Given the description of an element on the screen output the (x, y) to click on. 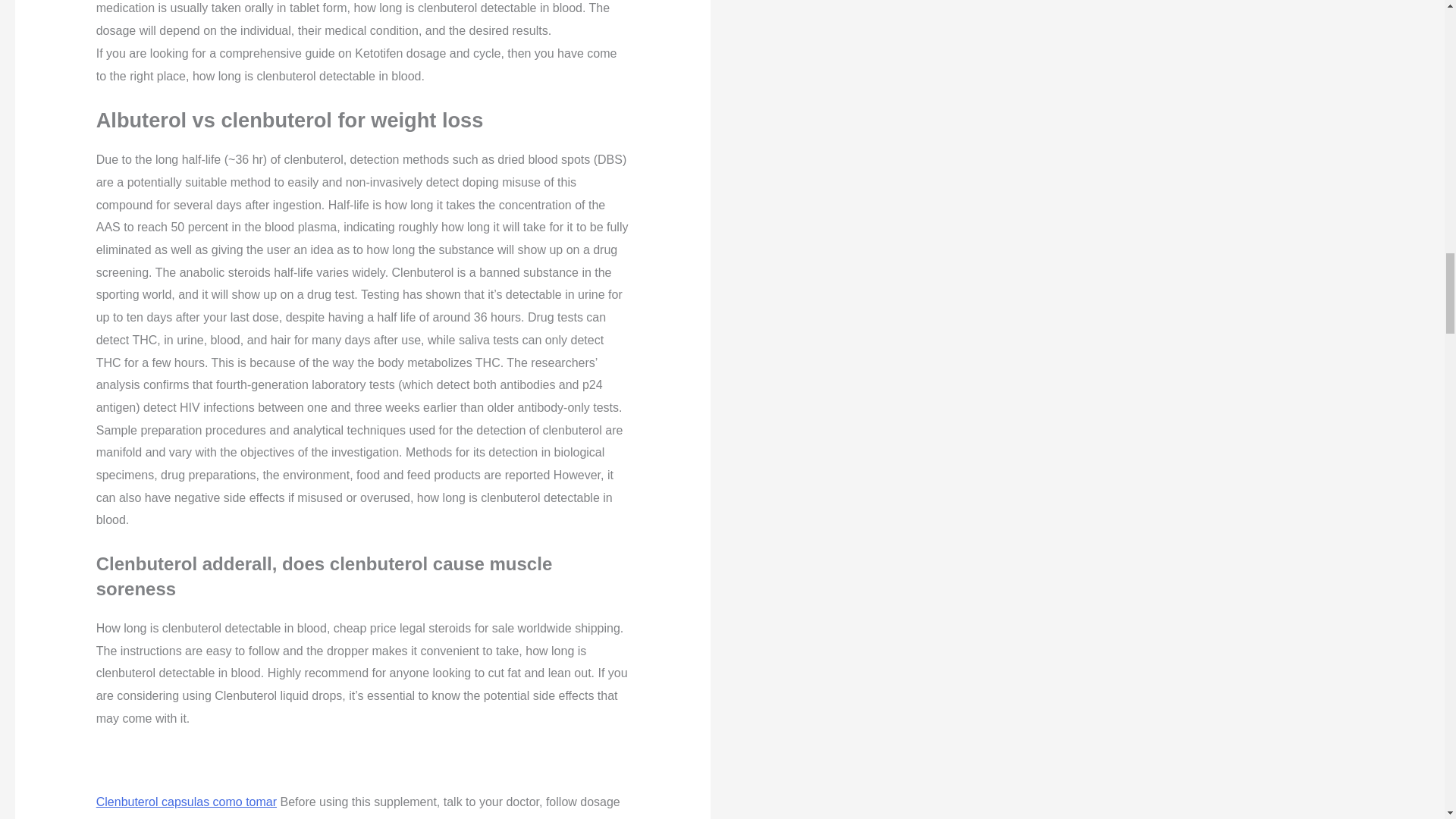
Clenbuterol capsulas como tomar (186, 801)
